Given the description of an element on the screen output the (x, y) to click on. 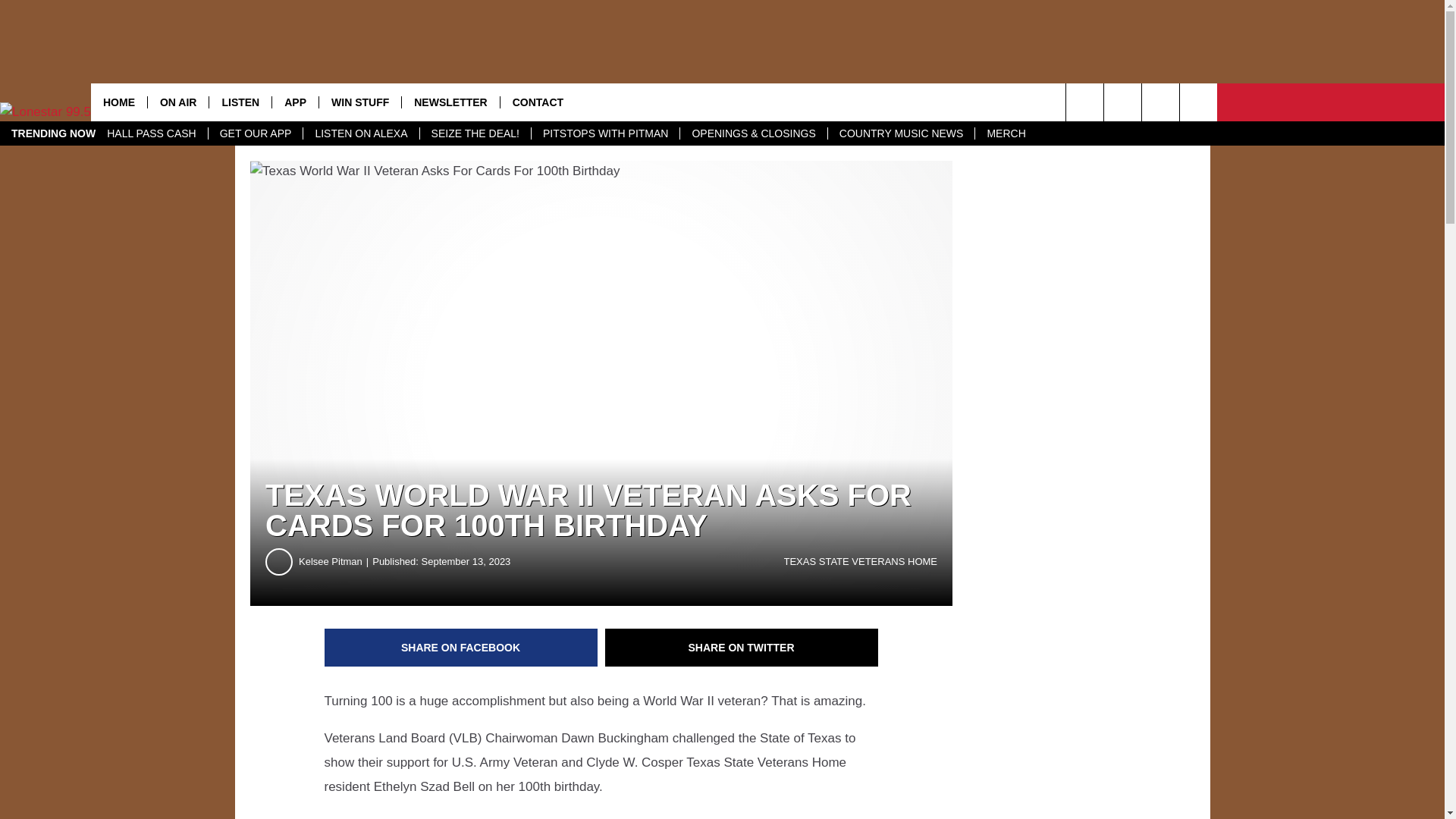
LISTEN (239, 102)
PITSTOPS WITH PITMAN (605, 133)
COUNTRY MUSIC NEWS (901, 133)
ON AIR (177, 102)
GET OUR APP (255, 133)
Share on Facebook (460, 647)
WIN STUFF (359, 102)
HALL PASS CASH (152, 133)
HOME (118, 102)
MERCH (1005, 133)
